Given the description of an element on the screen output the (x, y) to click on. 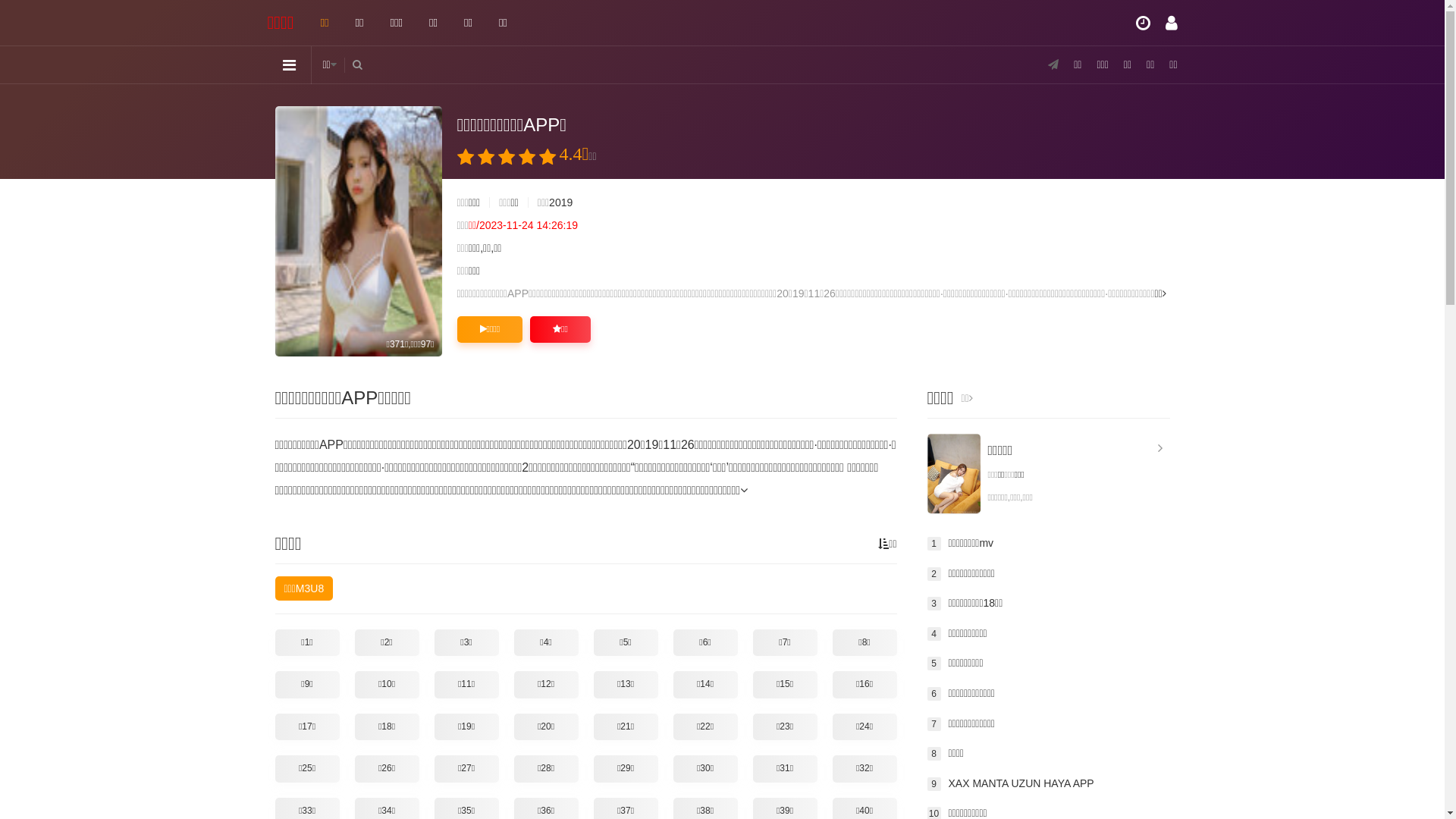
2019 Element type: text (560, 202)
9XAX MANTA UZUN HAYA APP Element type: text (1047, 783)
